Given the description of an element on the screen output the (x, y) to click on. 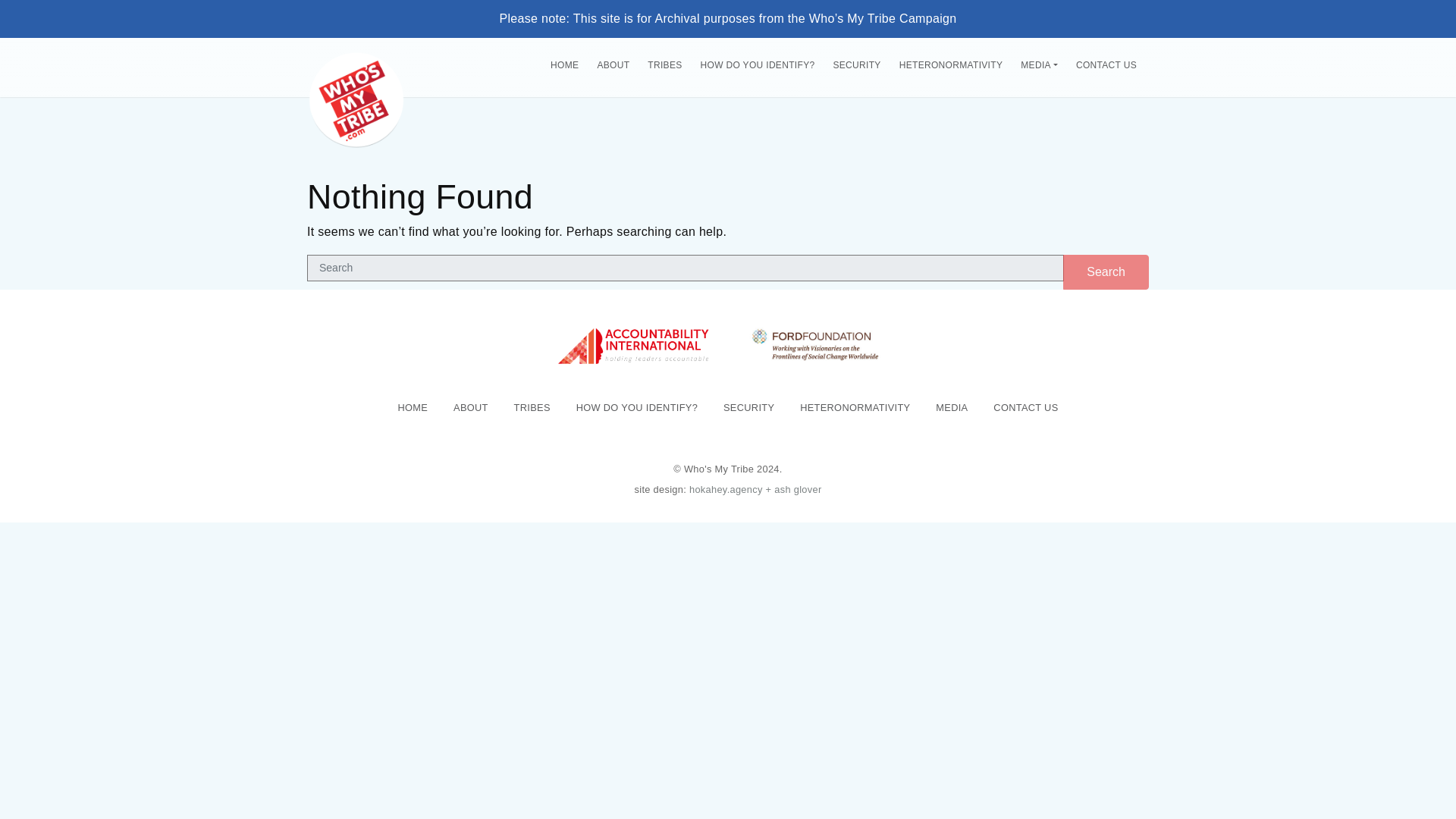
HETERONORMATIVITY (951, 65)
ABOUT (612, 65)
HOW DO YOU IDENTIFY? (757, 65)
Who's My Tribe (356, 99)
SECURITY (856, 65)
CONTACT US (1106, 65)
HOW DO YOU IDENTIFY? (636, 407)
MEDIA (952, 407)
CONTACT US (1025, 407)
TRIBES (664, 65)
TRIBES (531, 407)
ABOUT (469, 407)
HOME (564, 65)
MEDIA (1039, 65)
Who's My Tribe (356, 64)
